Given the description of an element on the screen output the (x, y) to click on. 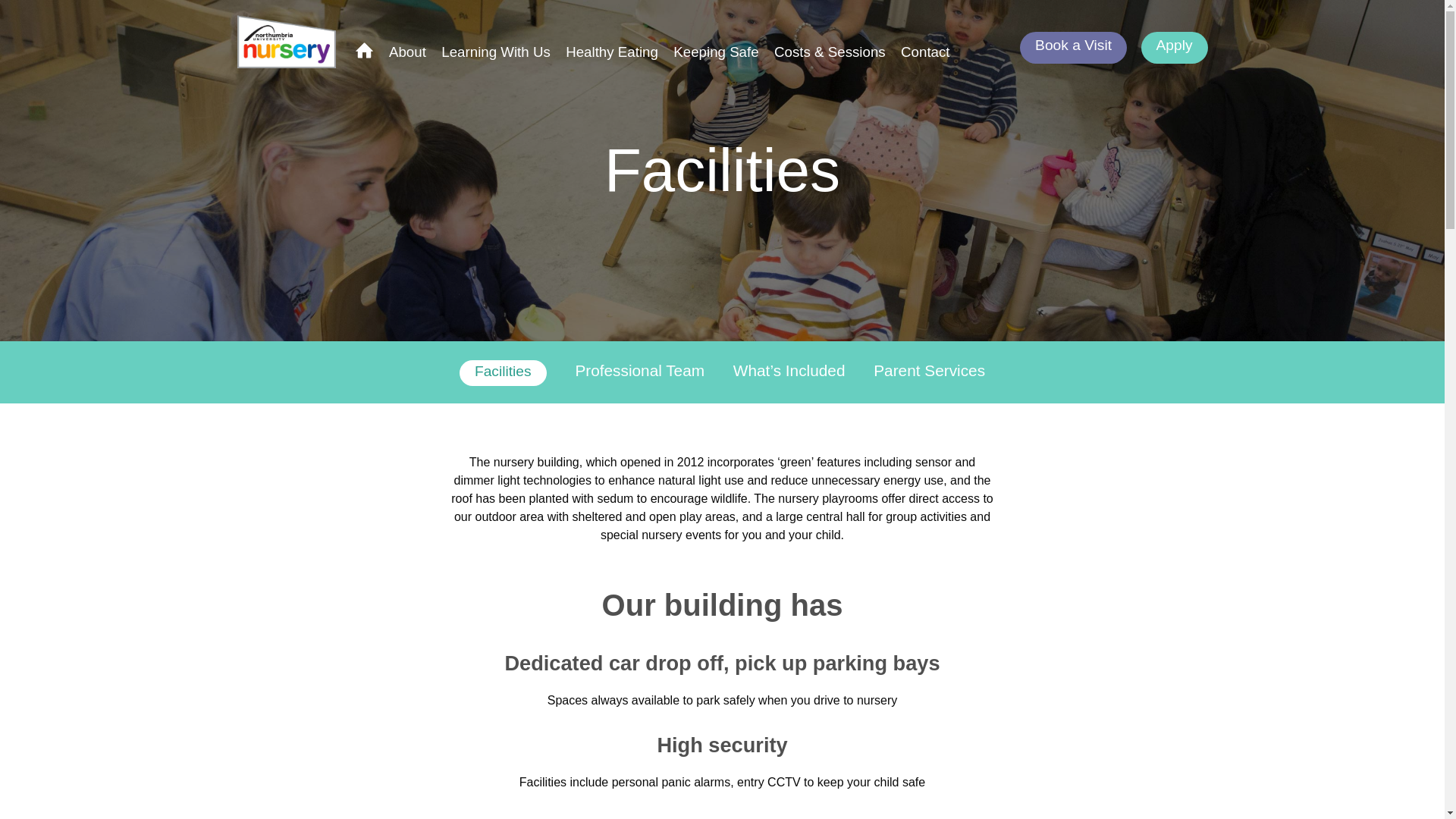
Northumbria University Nursery (288, 41)
Apply (1173, 47)
Book a Visit (1073, 47)
Professional Team (639, 370)
Learning With Us (495, 51)
Keeping Safe (715, 51)
Home (364, 51)
Healthy Eating (612, 51)
About (407, 51)
Parent Services (929, 370)
Contact (925, 51)
Facilities (503, 372)
